Given the description of an element on the screen output the (x, y) to click on. 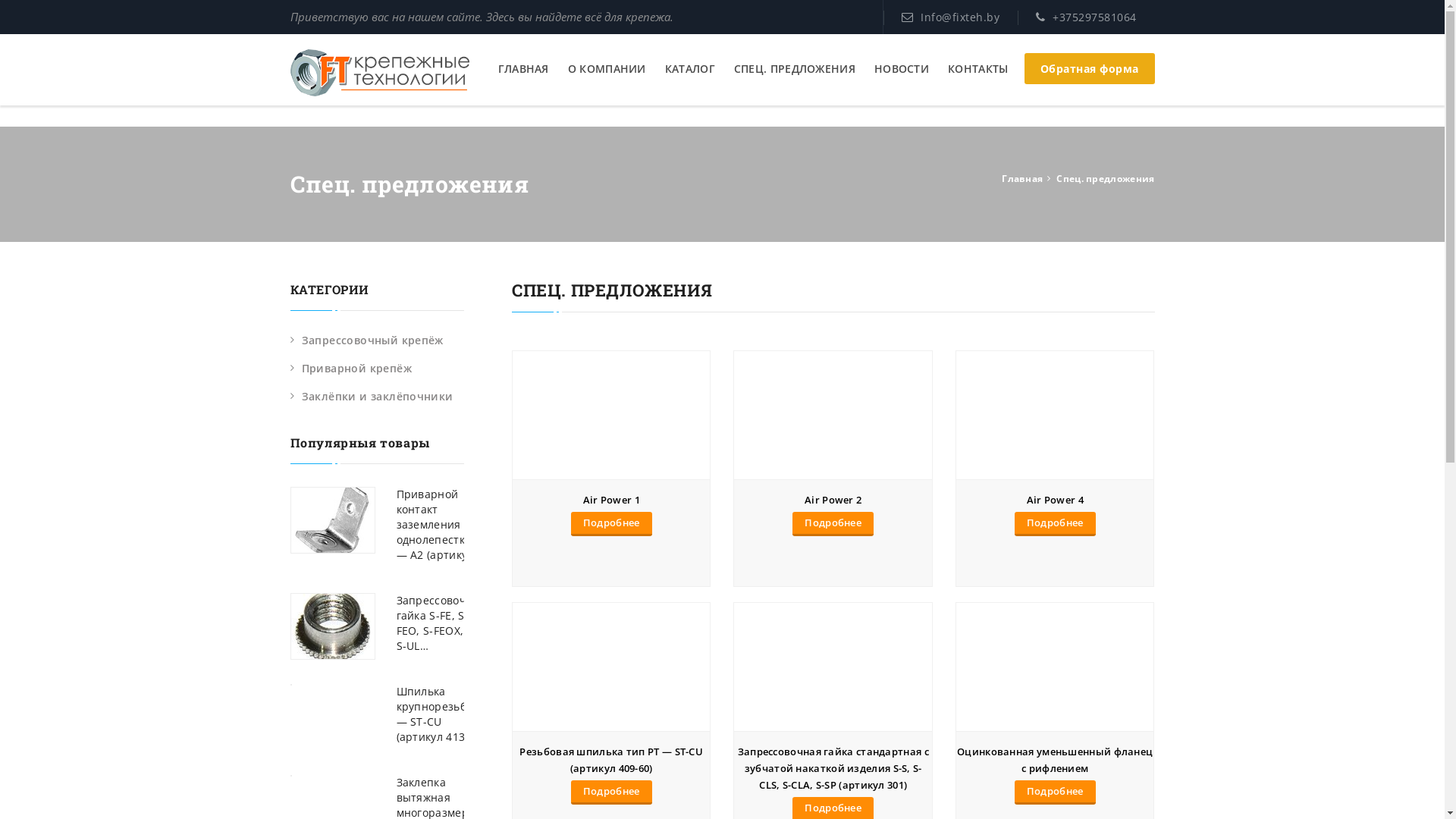
Air Power 4 Element type: text (1054, 499)
+375297581064 Element type: text (1094, 16)
Air Power 1 Element type: text (611, 499)
Air Power 2 Element type: text (832, 499)
Info@fixteh.by Element type: text (959, 16)
